Given the description of an element on the screen output the (x, y) to click on. 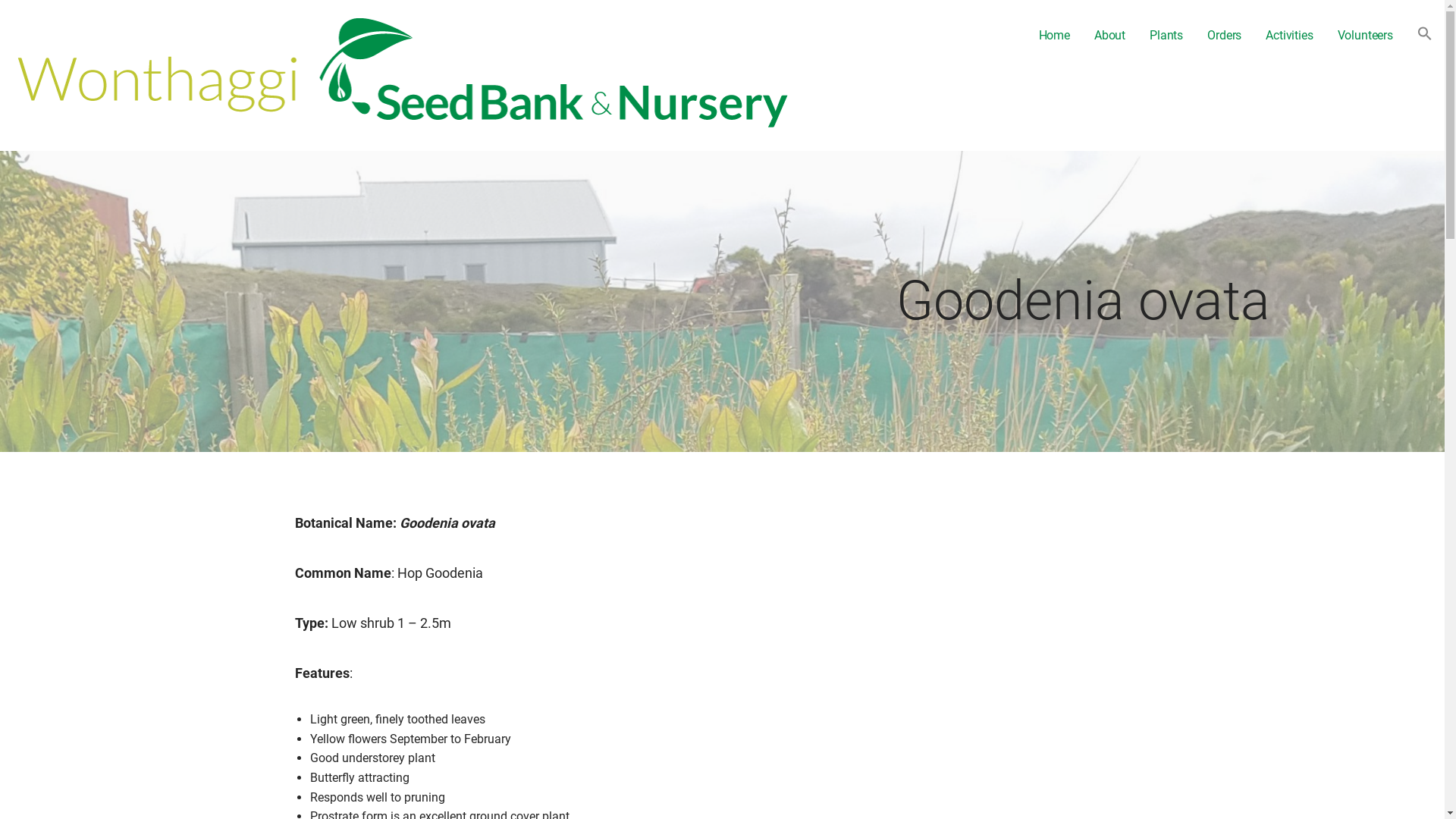
Activities Element type: text (1288, 36)
Volunteers Element type: text (1365, 36)
About Element type: text (1109, 36)
WONTHAGGI SEED BANK & NURSERY Element type: text (156, 140)
Orders Element type: text (1224, 36)
Plants Element type: text (1166, 36)
Home Element type: text (1054, 36)
